Given the description of an element on the screen output the (x, y) to click on. 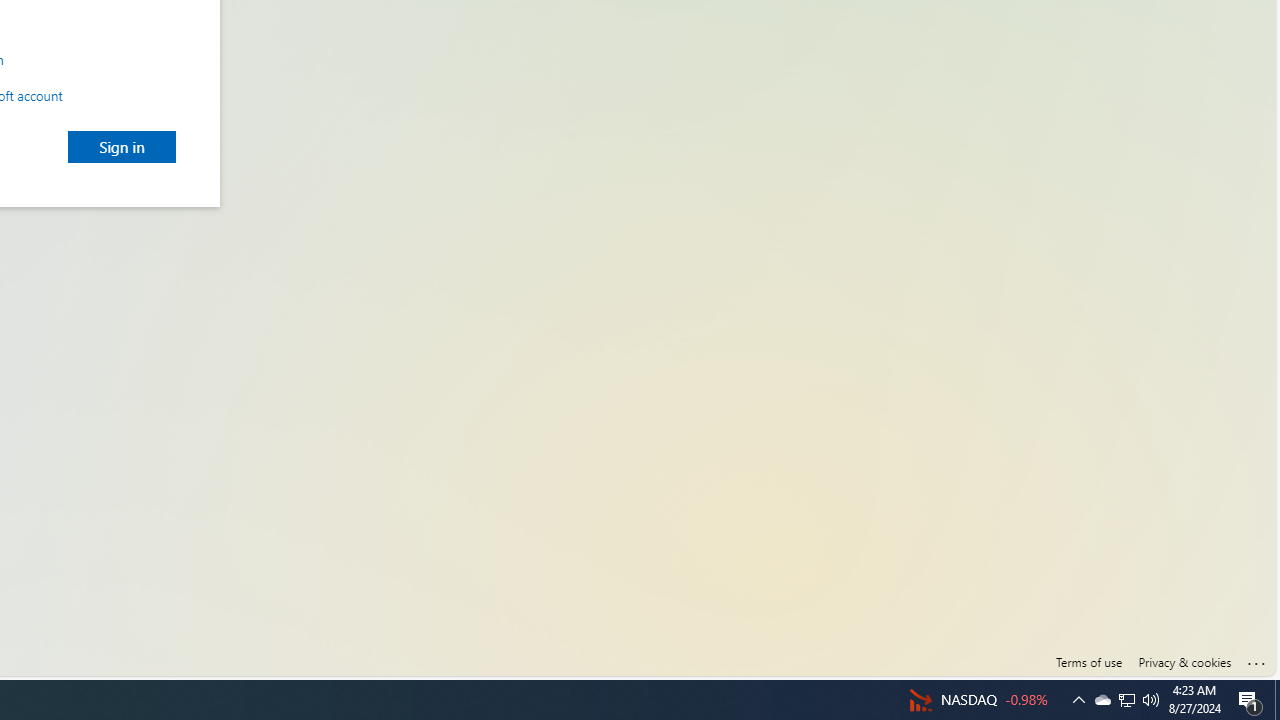
Click here for troubleshooting information (1257, 659)
Privacy & cookies (1184, 662)
